Given the description of an element on the screen output the (x, y) to click on. 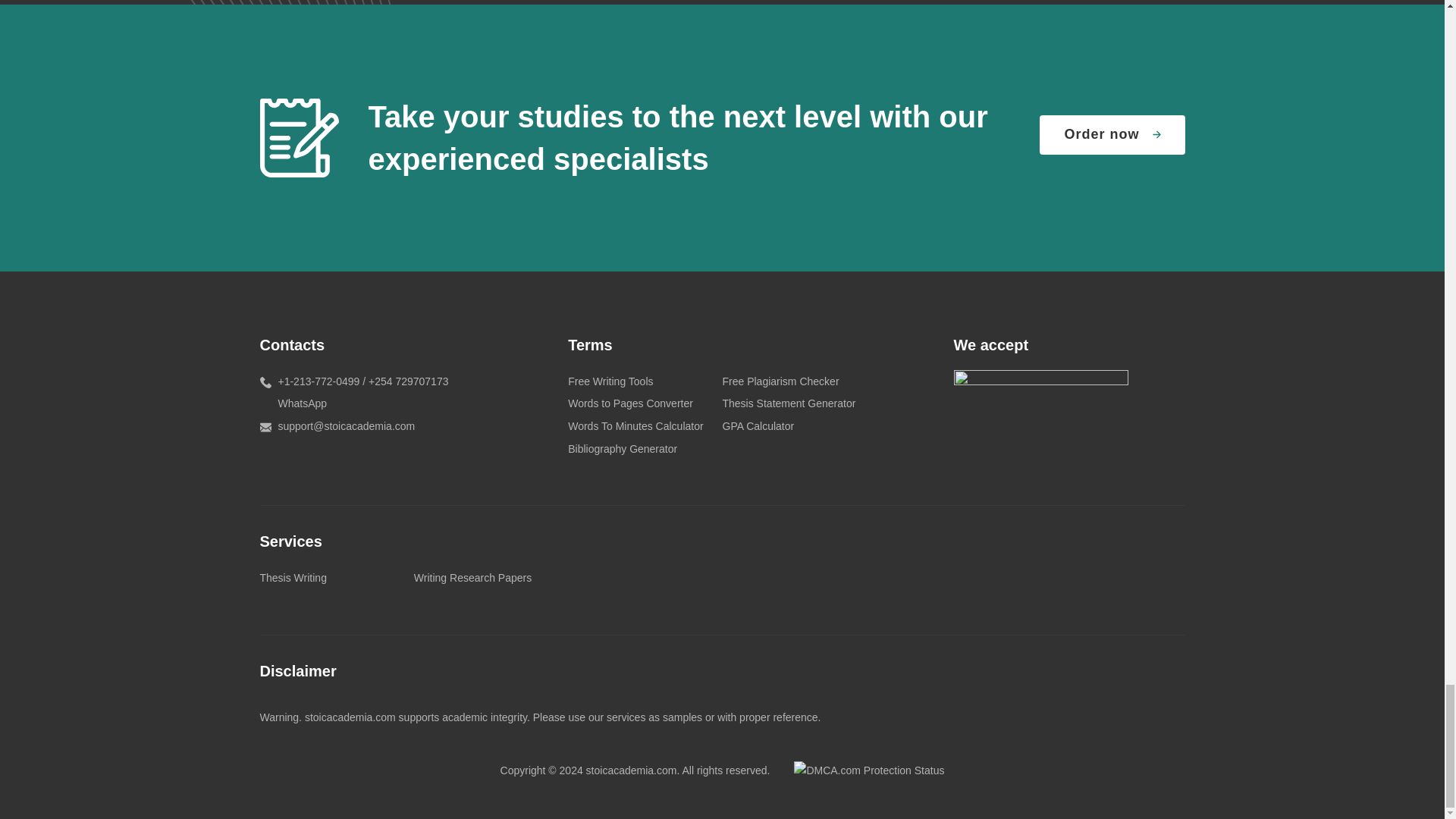
Writing Research Papers (472, 577)
Words To Minutes Calculator (635, 426)
Order now (1112, 134)
Free Writing Tools (609, 381)
Words to Pages Converter (630, 403)
Free Plagiarism Checker (780, 381)
Bibliography Generator (622, 449)
Thesis Statement Generator (789, 403)
Thesis Writing (292, 577)
GPA Calculator (757, 426)
